Given the description of an element on the screen output the (x, y) to click on. 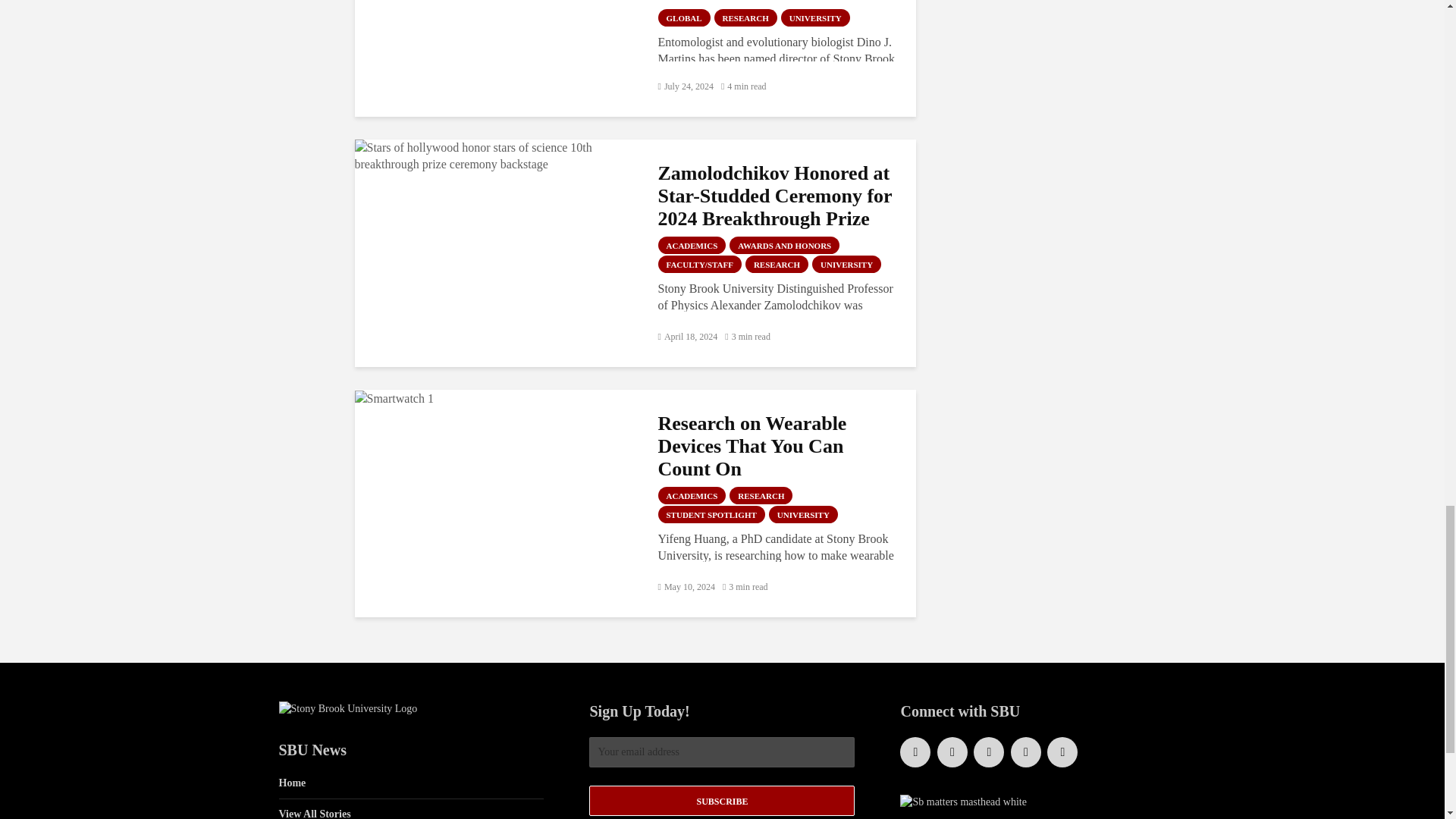
Subscribe (721, 800)
Research on Wearable Devices That You Can Count On (394, 397)
